Given the description of an element on the screen output the (x, y) to click on. 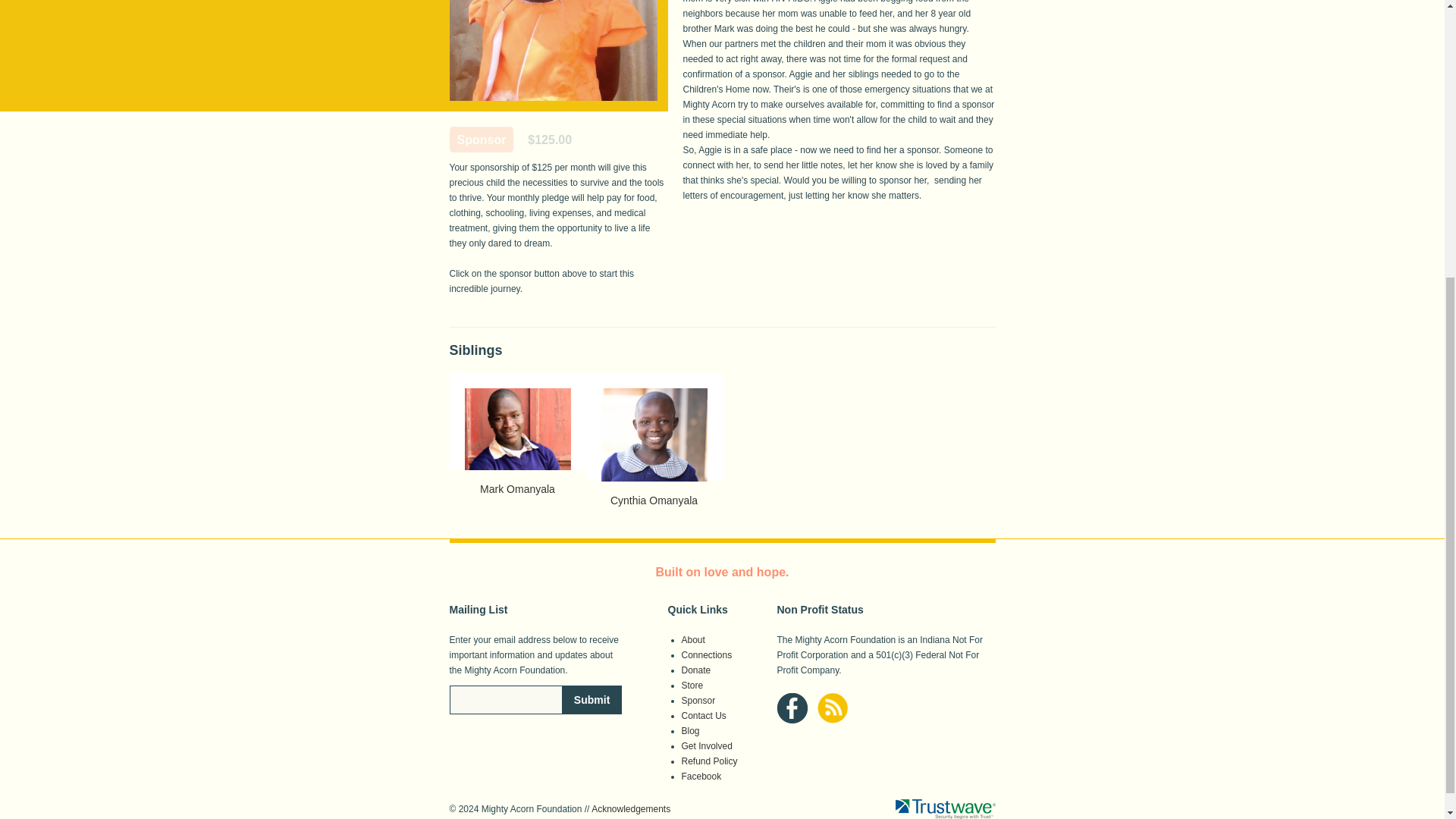
Sponsor (697, 700)
About (692, 639)
Store (692, 685)
Connections (706, 655)
Facebook (700, 776)
Donate (695, 670)
Contact Us (703, 715)
Acknowledgements (630, 808)
Get Involved (706, 746)
Blog (689, 730)
Refund Policy (708, 760)
